Given the description of an element on the screen output the (x, y) to click on. 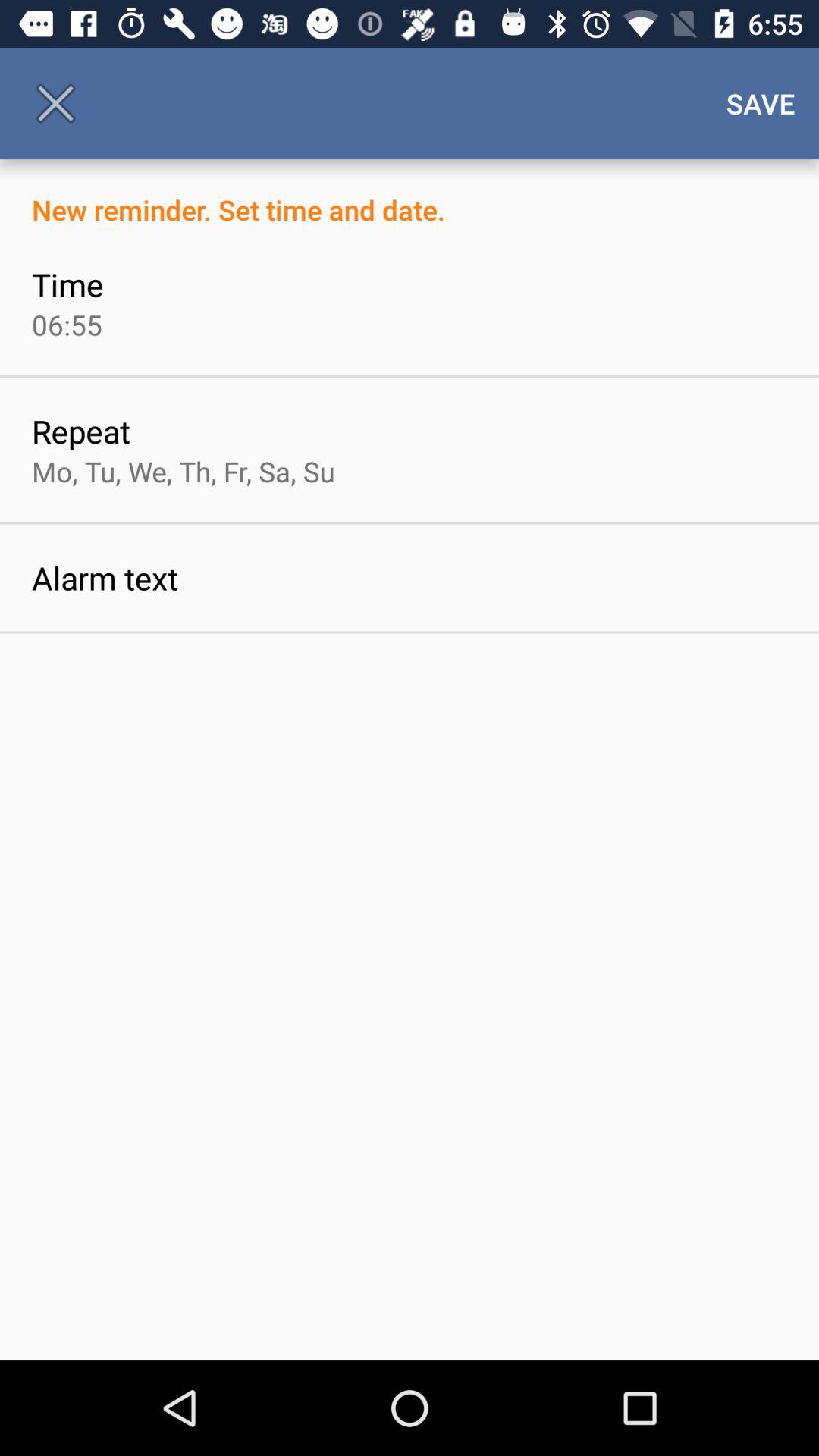
open icon below time item (66, 324)
